Given the description of an element on the screen output the (x, y) to click on. 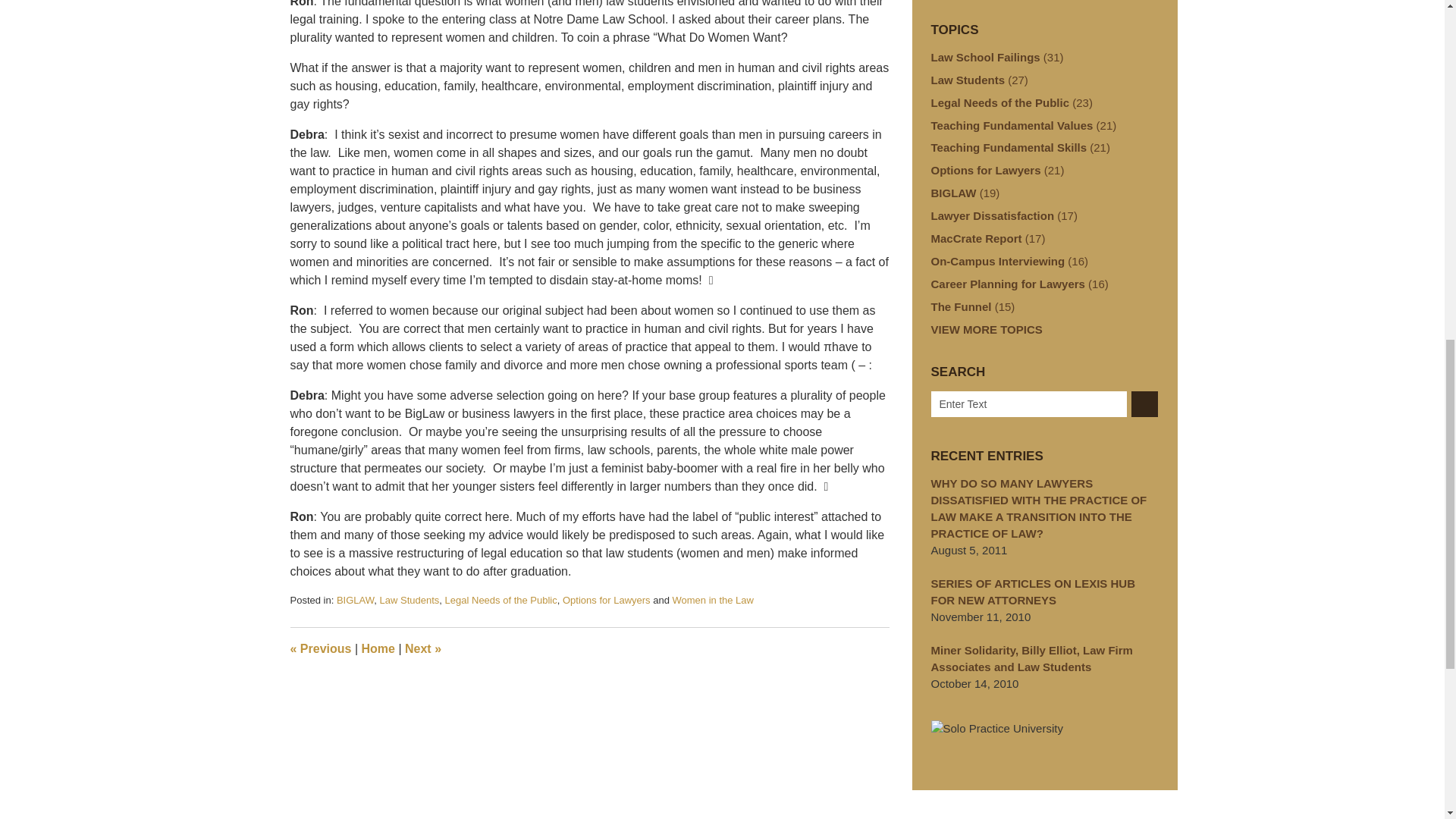
Women in the Law (711, 600)
View all posts in Women in the Law (711, 600)
Law Students (409, 600)
Options for Lawyers (606, 600)
BIGLAW (355, 600)
Can We Expect the Legal Media to Think Outside the Box? (422, 648)
View all posts in Law Students (409, 600)
View all posts in BIGLAW (355, 600)
Home (377, 648)
Legal Needs of the Public (501, 600)
View all posts in Options for Lawyers (606, 600)
View all posts in Legal Needs of the Public (501, 600)
